Given the description of an element on the screen output the (x, y) to click on. 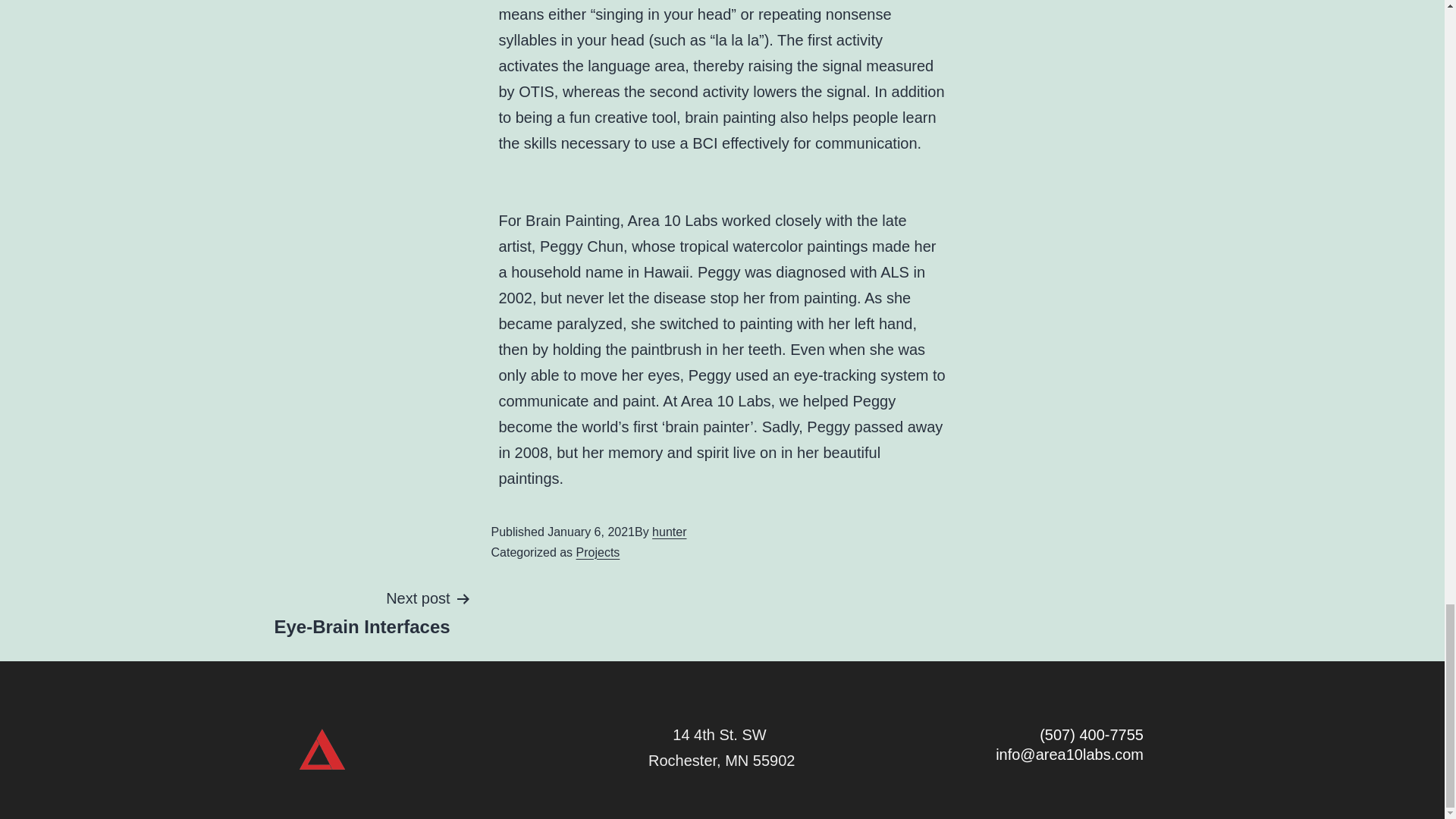
logo-3 (321, 745)
hunter (668, 531)
Projects (598, 552)
Peggy Chun (581, 246)
Peggy Chun (581, 246)
